Given the description of an element on the screen output the (x, y) to click on. 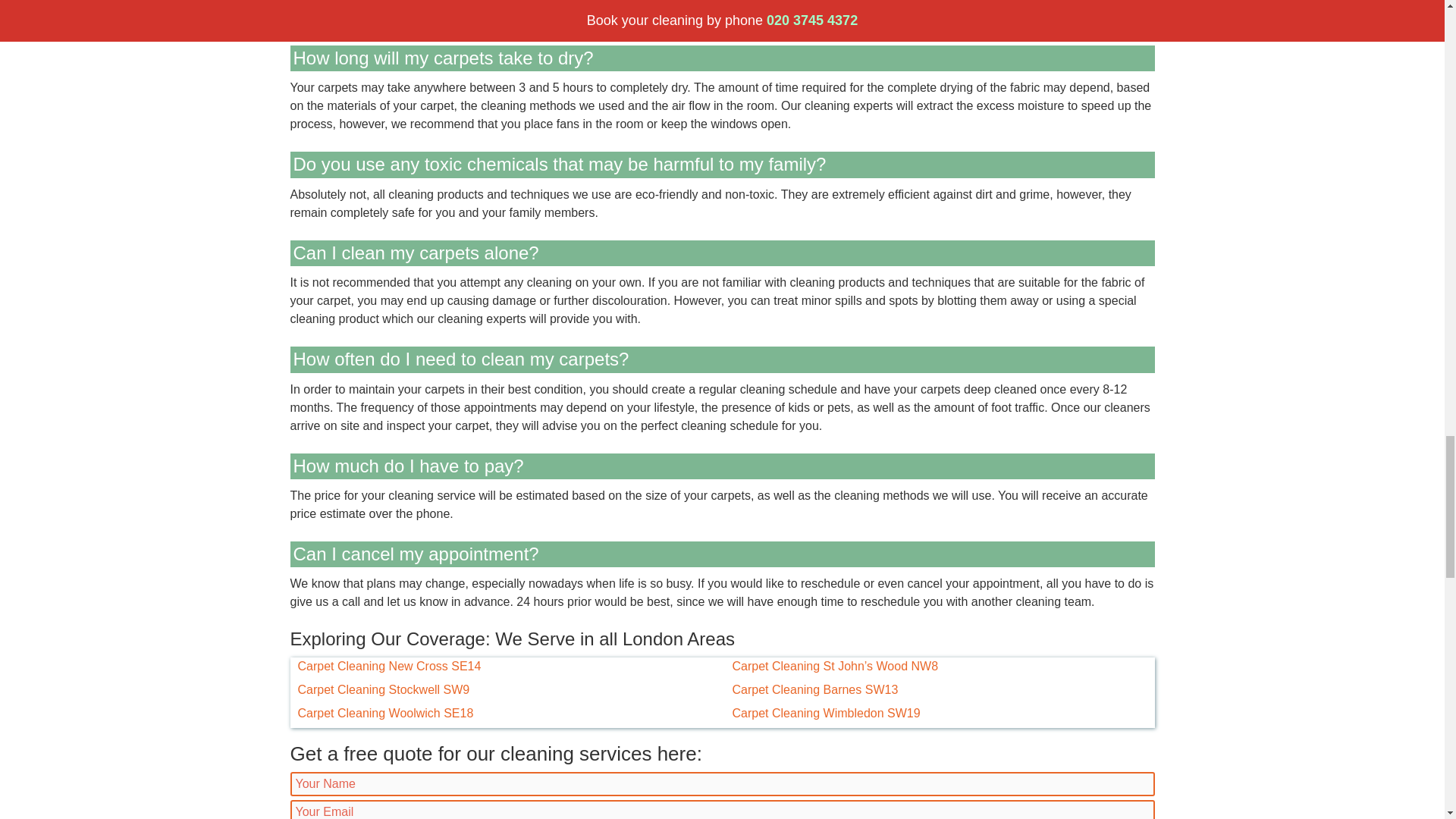
Carpet Cleaning Stockwell SW9 (382, 689)
Carpet Cleaning Woolwich SE18 (385, 713)
Carpet Cleaning Wimbledon SW19 (826, 713)
Carpet Cleaning New Cross SE14 (388, 666)
Carpet Cleaning Barnes SW13 (815, 689)
